Given the description of an element on the screen output the (x, y) to click on. 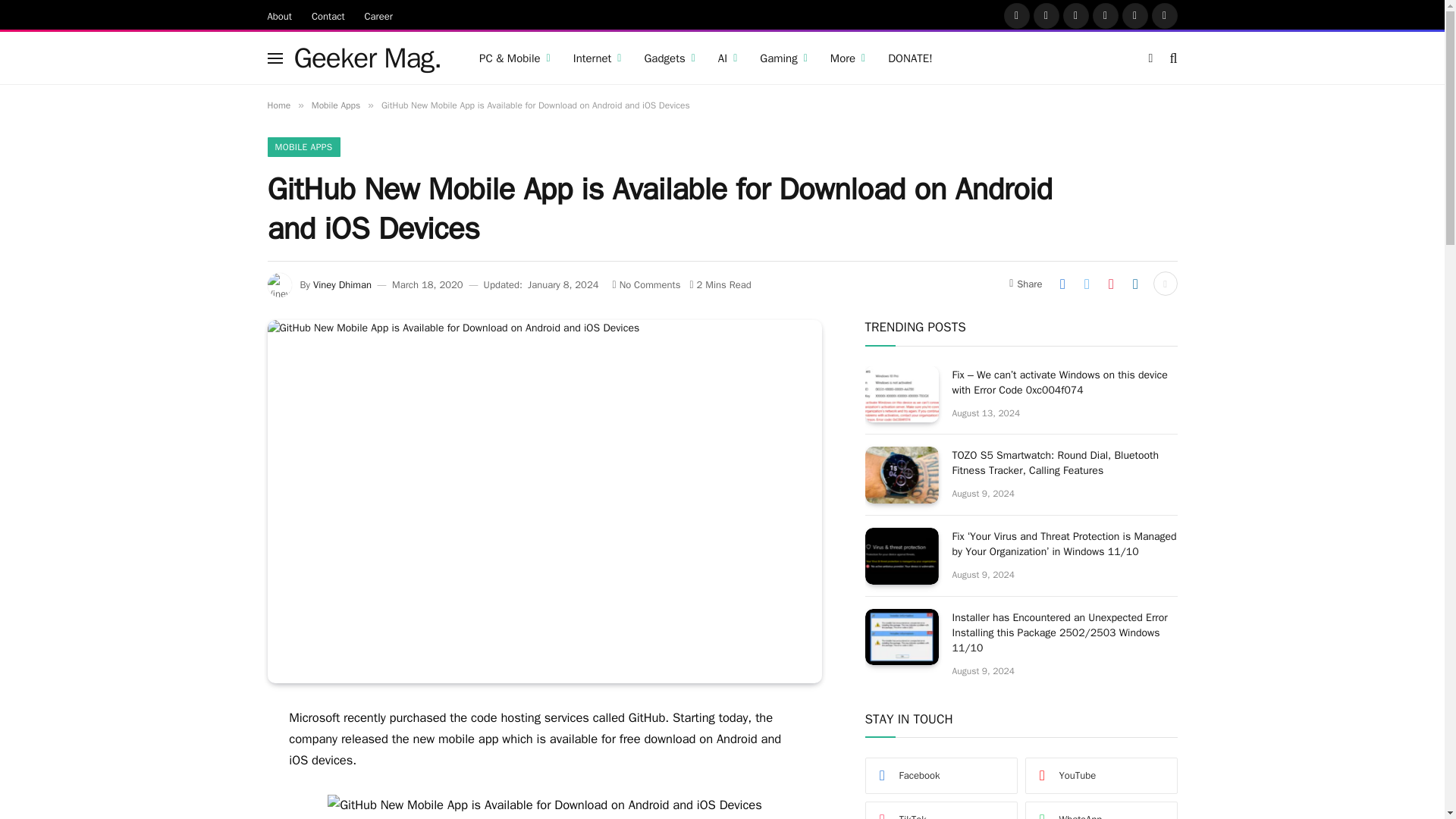
LinkedIn (1135, 15)
WhatsApp (1163, 15)
Geeker Mag. (368, 57)
Geeker Mag. (368, 57)
Career (379, 15)
Instagram (1075, 15)
About (279, 15)
Contact (328, 15)
Facebook (1016, 15)
Pinterest (1105, 15)
